Given the description of an element on the screen output the (x, y) to click on. 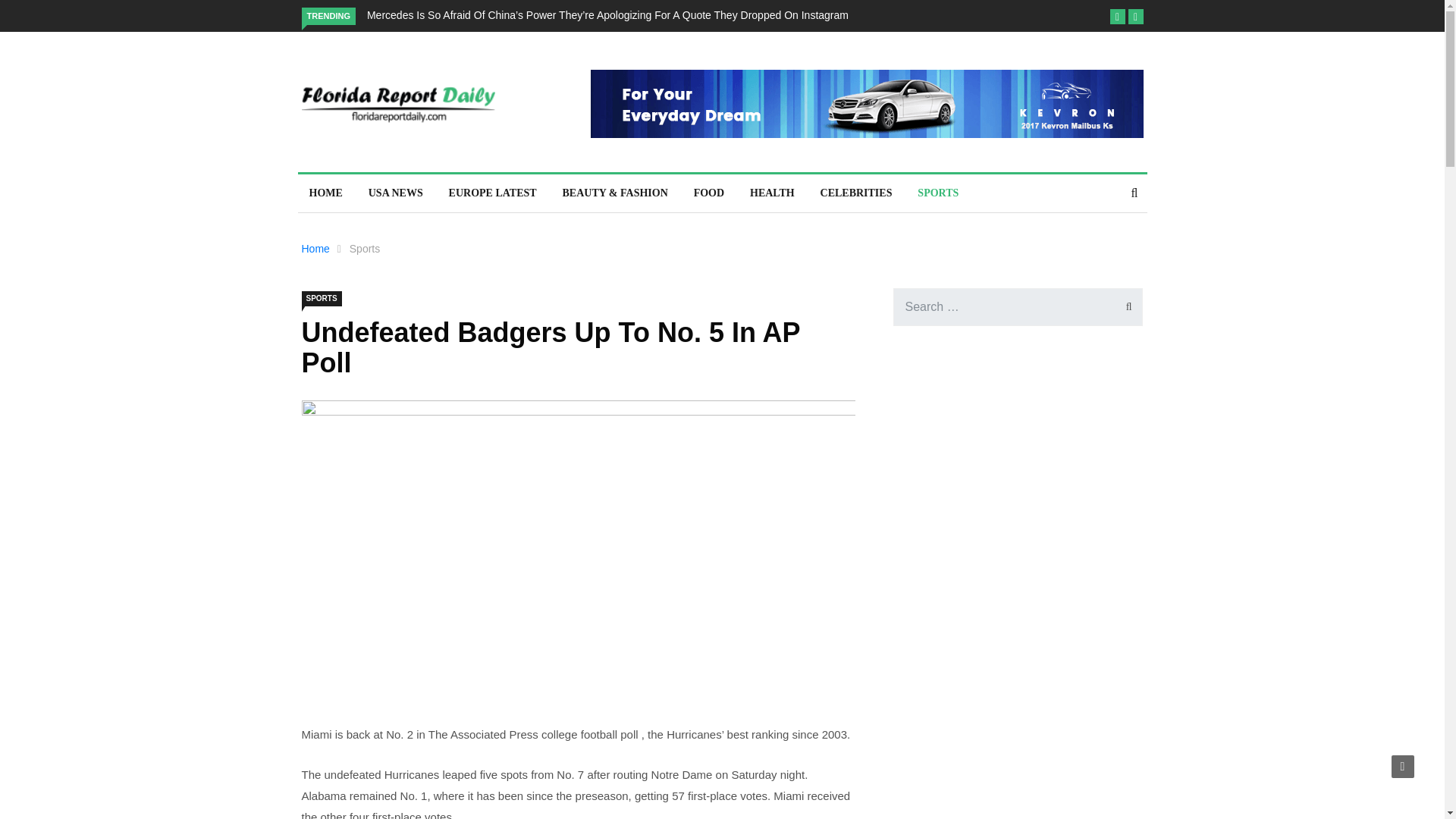
FOOD (708, 193)
CELEBRITIES (856, 193)
SPORTS (937, 193)
Sports (364, 248)
Home (315, 248)
logo (398, 105)
SPORTS (321, 298)
HOME (325, 193)
USA NEWS (394, 193)
EUROPE LATEST (493, 193)
